Given the description of an element on the screen output the (x, y) to click on. 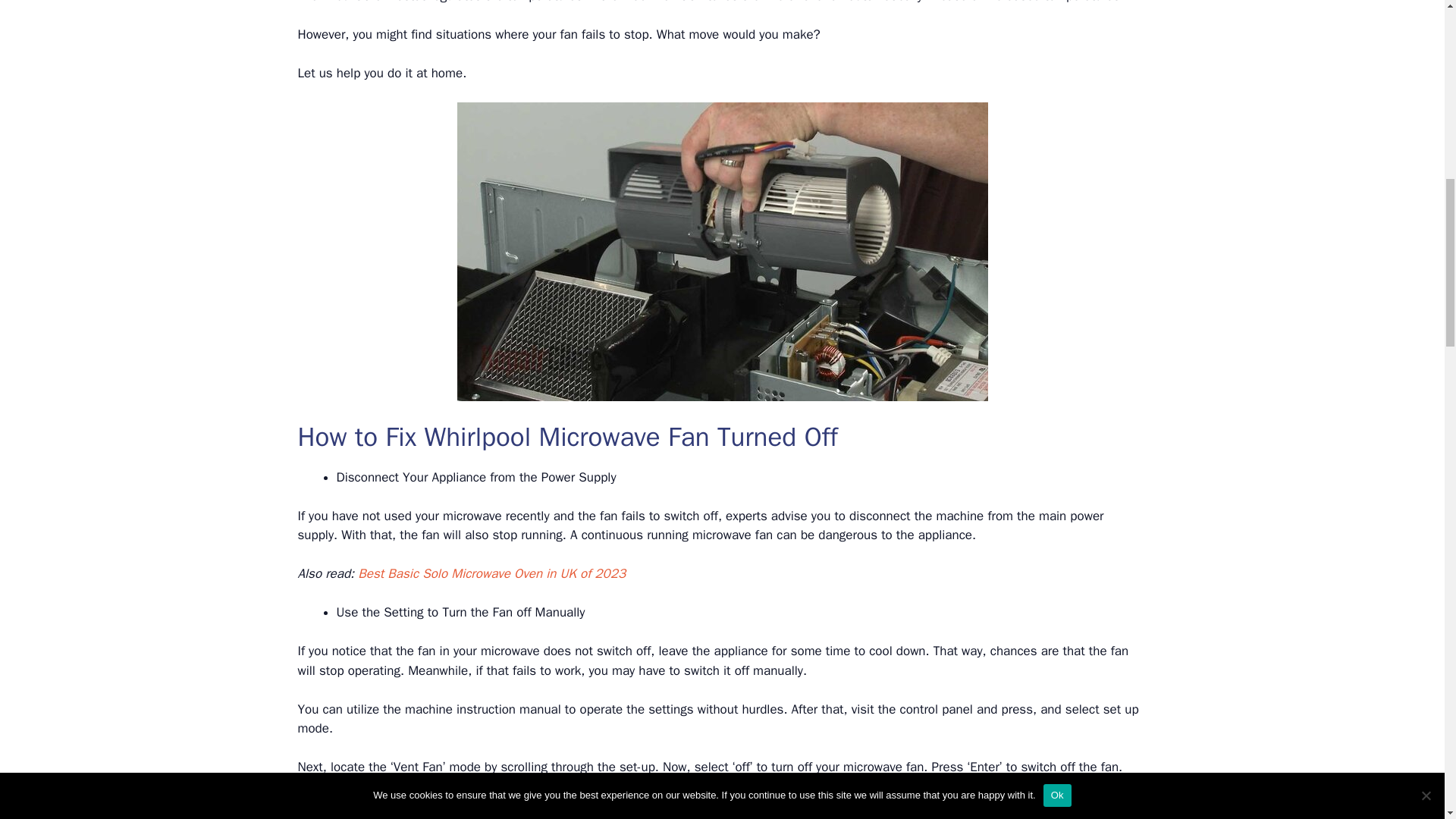
Best Basic Solo Microwave Oven in UK of 2023 (492, 573)
